Given the description of an element on the screen output the (x, y) to click on. 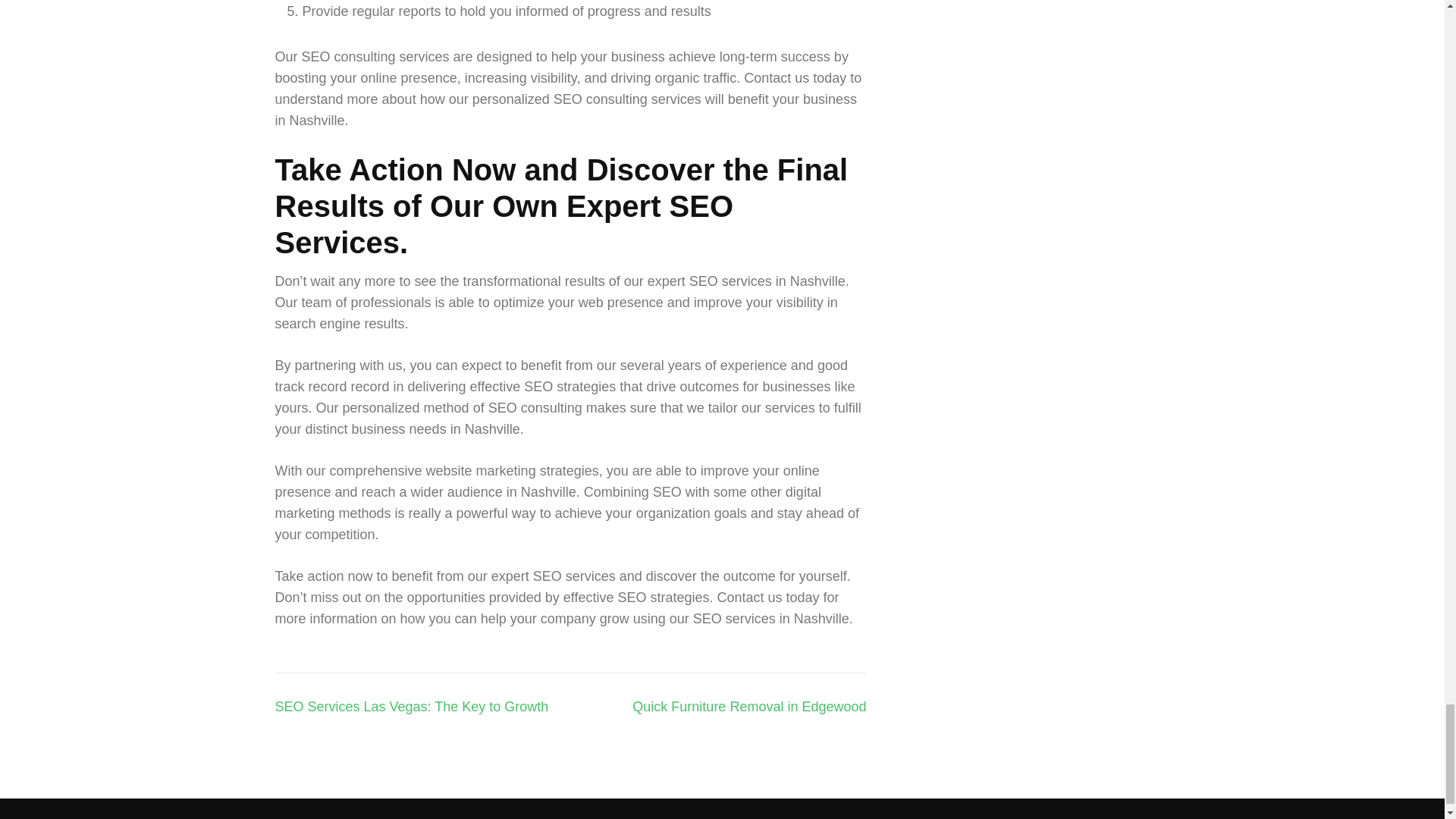
SEO Services Las Vegas: The Key to Growth (411, 706)
Quick Furniture Removal in Edgewood (748, 706)
